Given the description of an element on the screen output the (x, y) to click on. 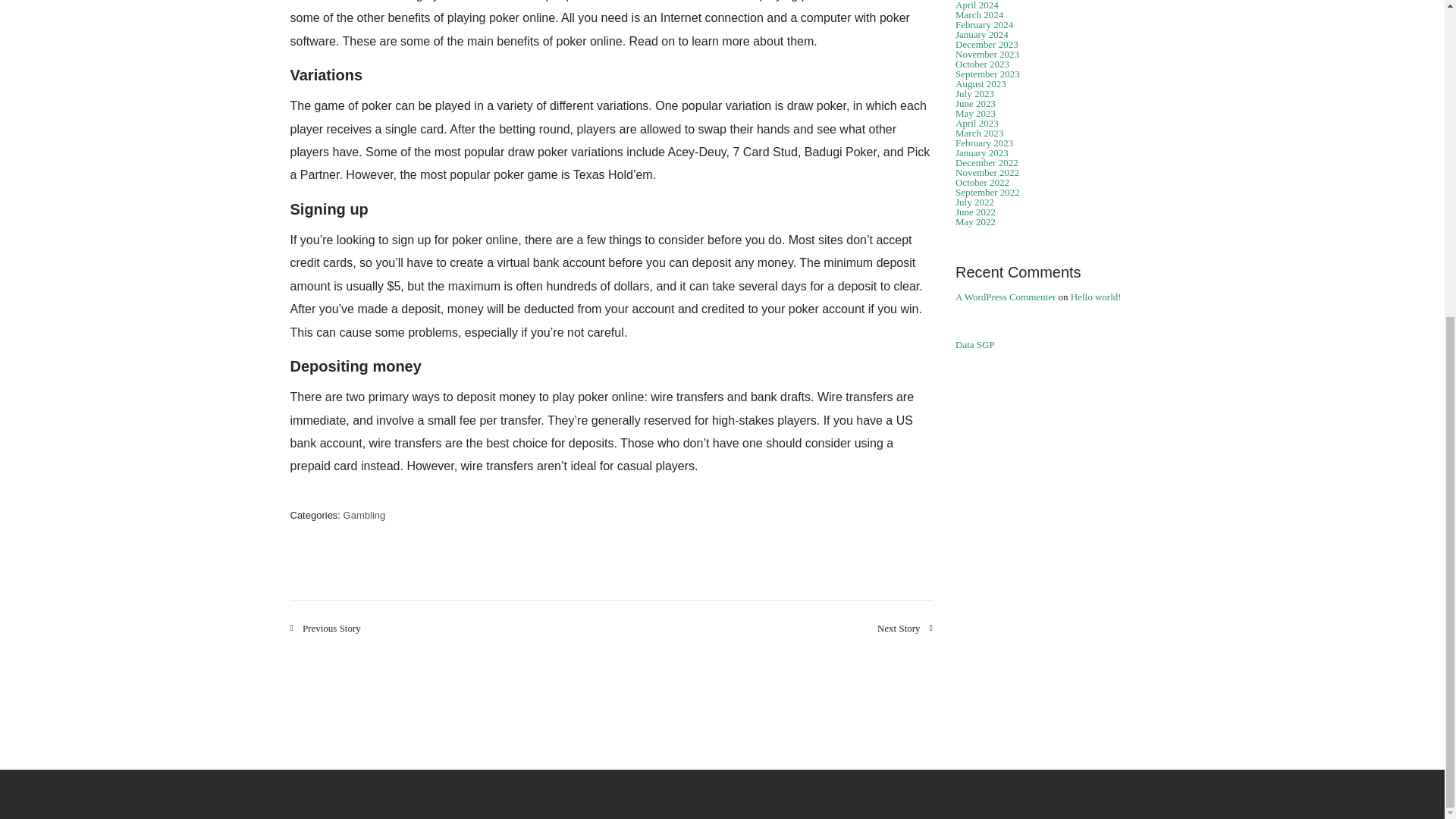
January 2023 (982, 152)
Gambling (364, 514)
April 2023 (976, 122)
August 2023 (980, 83)
February 2023 (984, 142)
September 2022 (987, 192)
July 2023 (974, 93)
November 2022 (987, 172)
November 2023 (987, 53)
June 2023 (975, 102)
March 2023 (979, 132)
Next Story (905, 628)
October 2023 (982, 63)
July 2022 (974, 202)
February 2024 (984, 24)
